Given the description of an element on the screen output the (x, y) to click on. 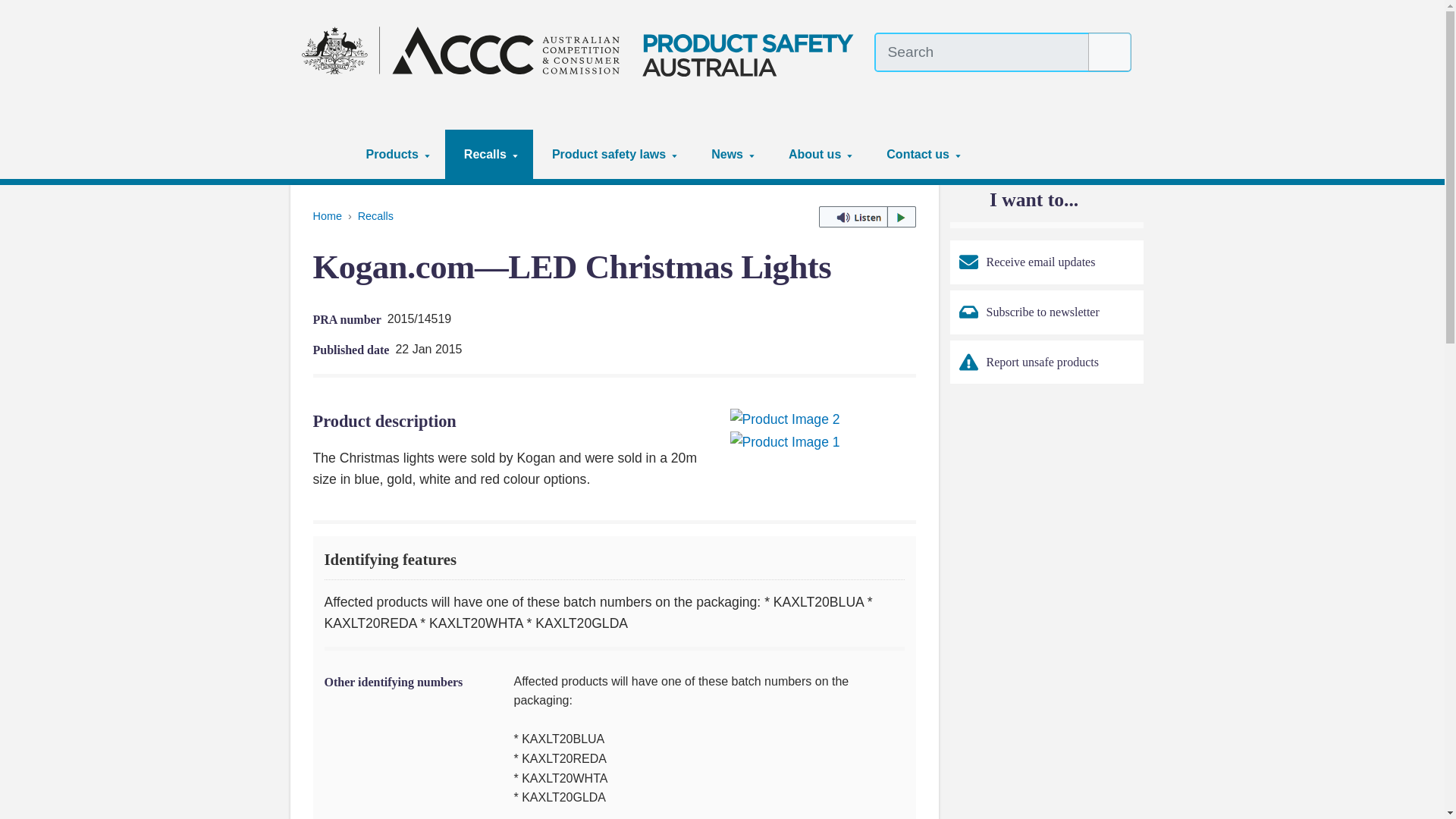
Products (396, 154)
Home (324, 154)
Product Safety Australia home (582, 49)
About website translation (1123, 87)
Search (1109, 51)
Listen to this page using ReadSpeaker (866, 216)
